Given the description of an element on the screen output the (x, y) to click on. 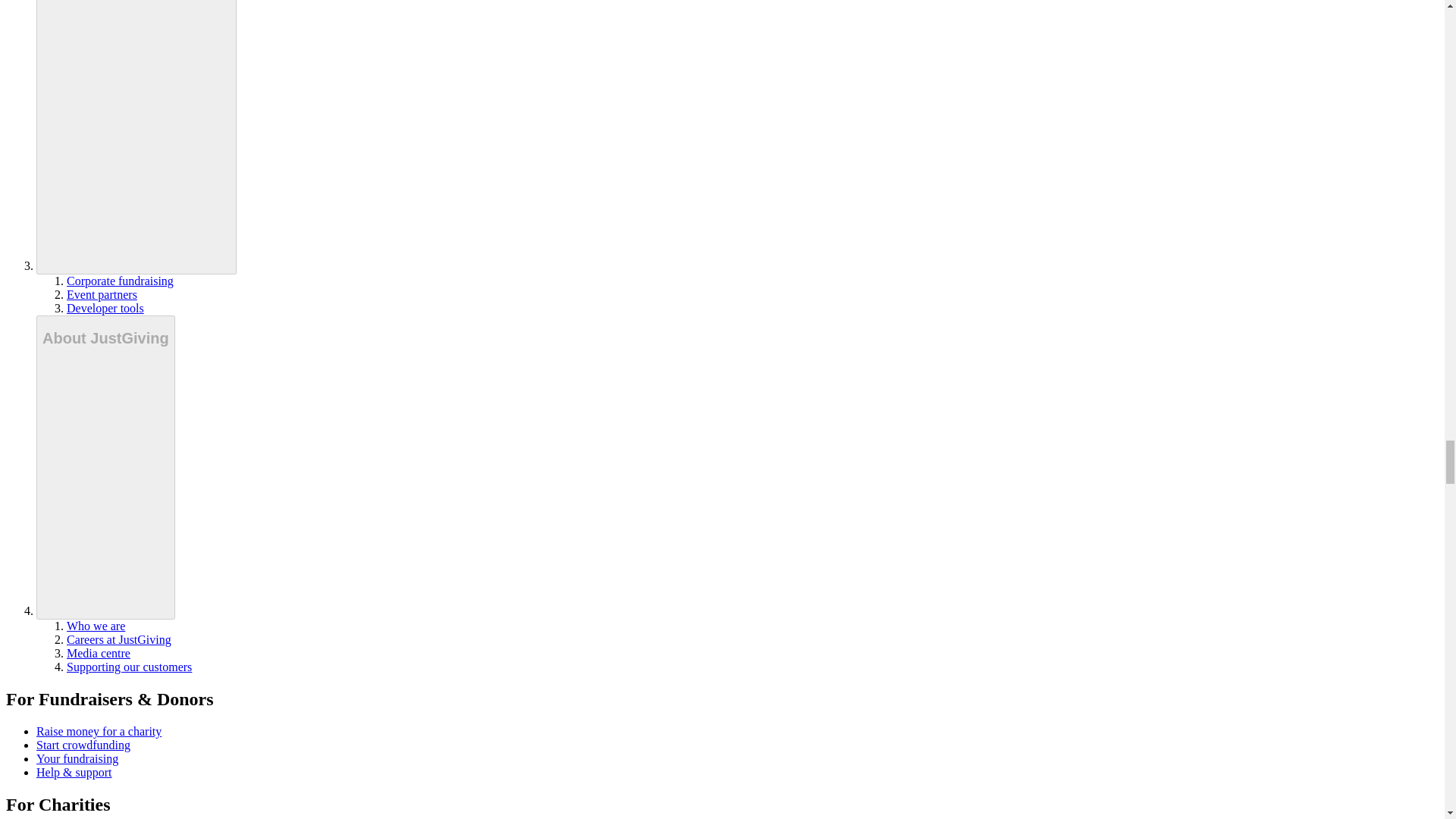
Corporate fundraising (119, 280)
Event partners (101, 294)
